Given the description of an element on the screen output the (x, y) to click on. 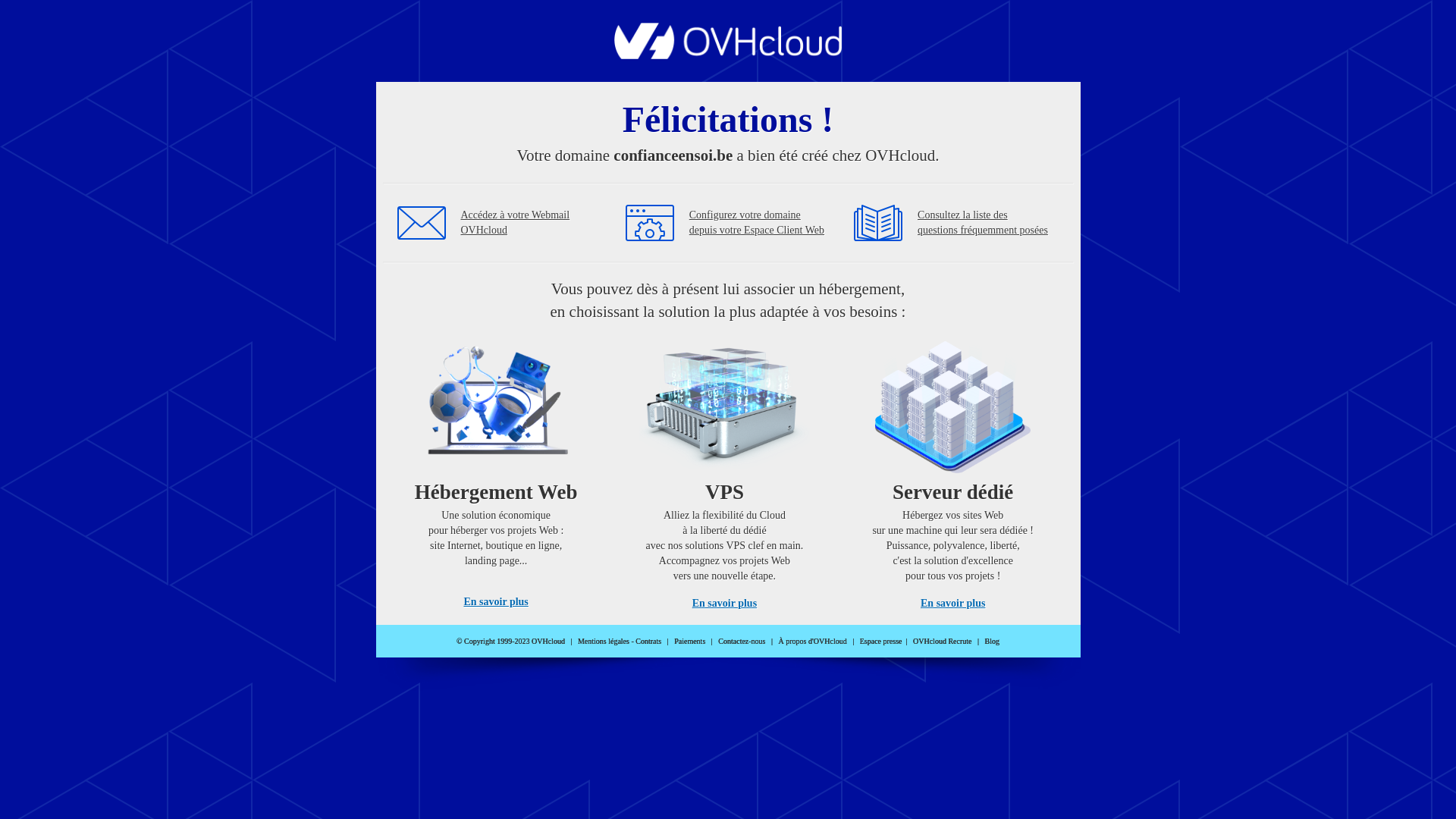
En savoir plus Element type: text (724, 602)
OVHcloud Element type: hover (727, 54)
Blog Element type: text (992, 641)
Contactez-nous Element type: text (741, 641)
En savoir plus Element type: text (495, 601)
VPS Element type: hover (724, 469)
Paiements Element type: text (689, 641)
En savoir plus Element type: text (952, 602)
Configurez votre domaine
depuis votre Espace Client Web Element type: text (756, 222)
OVHcloud Recrute Element type: text (942, 641)
Espace presse Element type: text (880, 641)
